Given the description of an element on the screen output the (x, y) to click on. 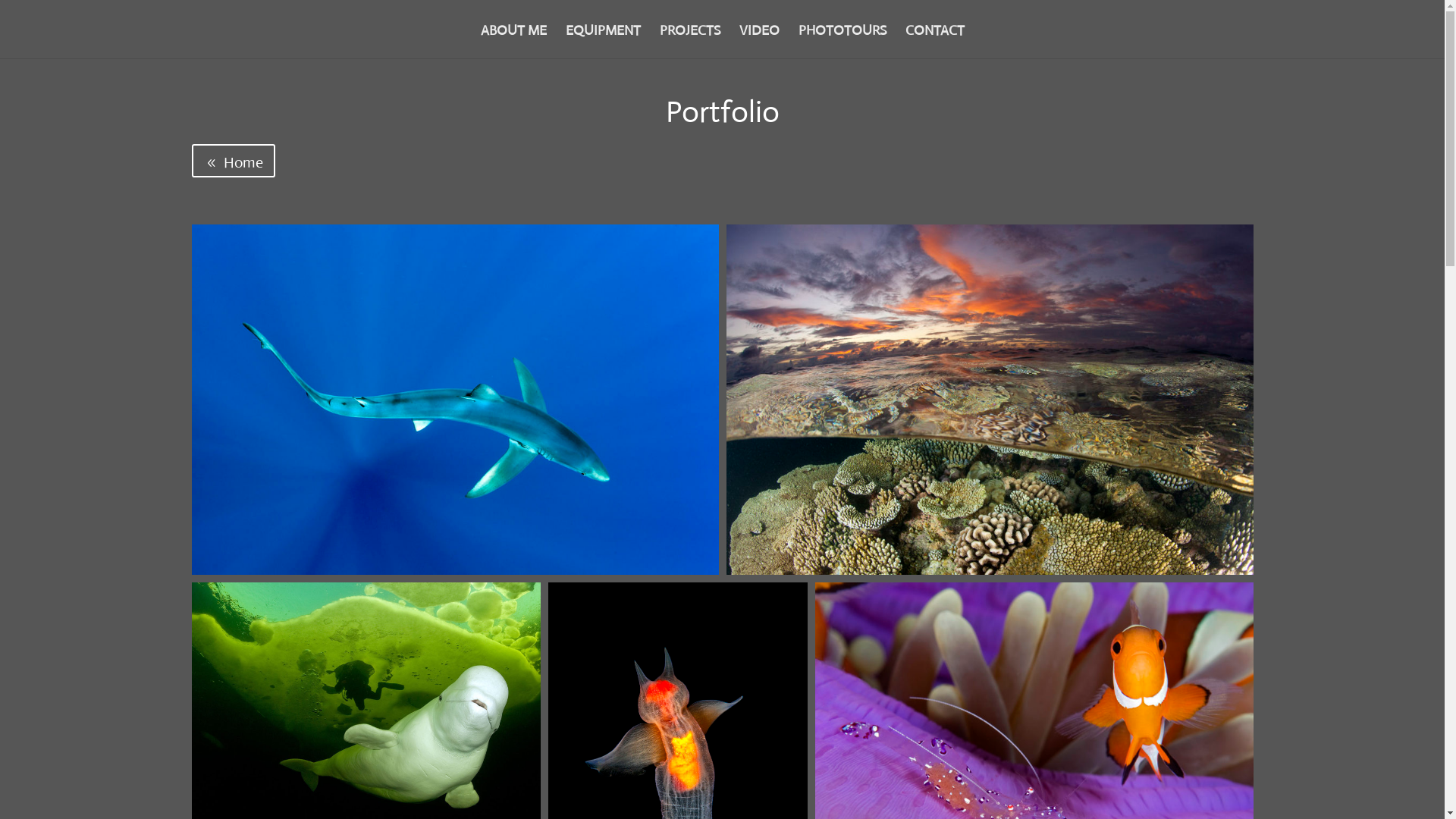
1112512 Element type: hover (989, 398)
VIDEO Element type: text (758, 41)
EQUIPMENT Element type: text (602, 41)
ABOUT ME Element type: text (513, 41)
Home Element type: text (232, 160)
PROJECTS Element type: text (689, 41)
Open image in lightbox Element type: hover (989, 399)
Open image in lightbox Element type: hover (454, 399)
PHOTOTOURS Element type: text (841, 41)
CONTACT Element type: text (934, 41)
